Given the description of an element on the screen output the (x, y) to click on. 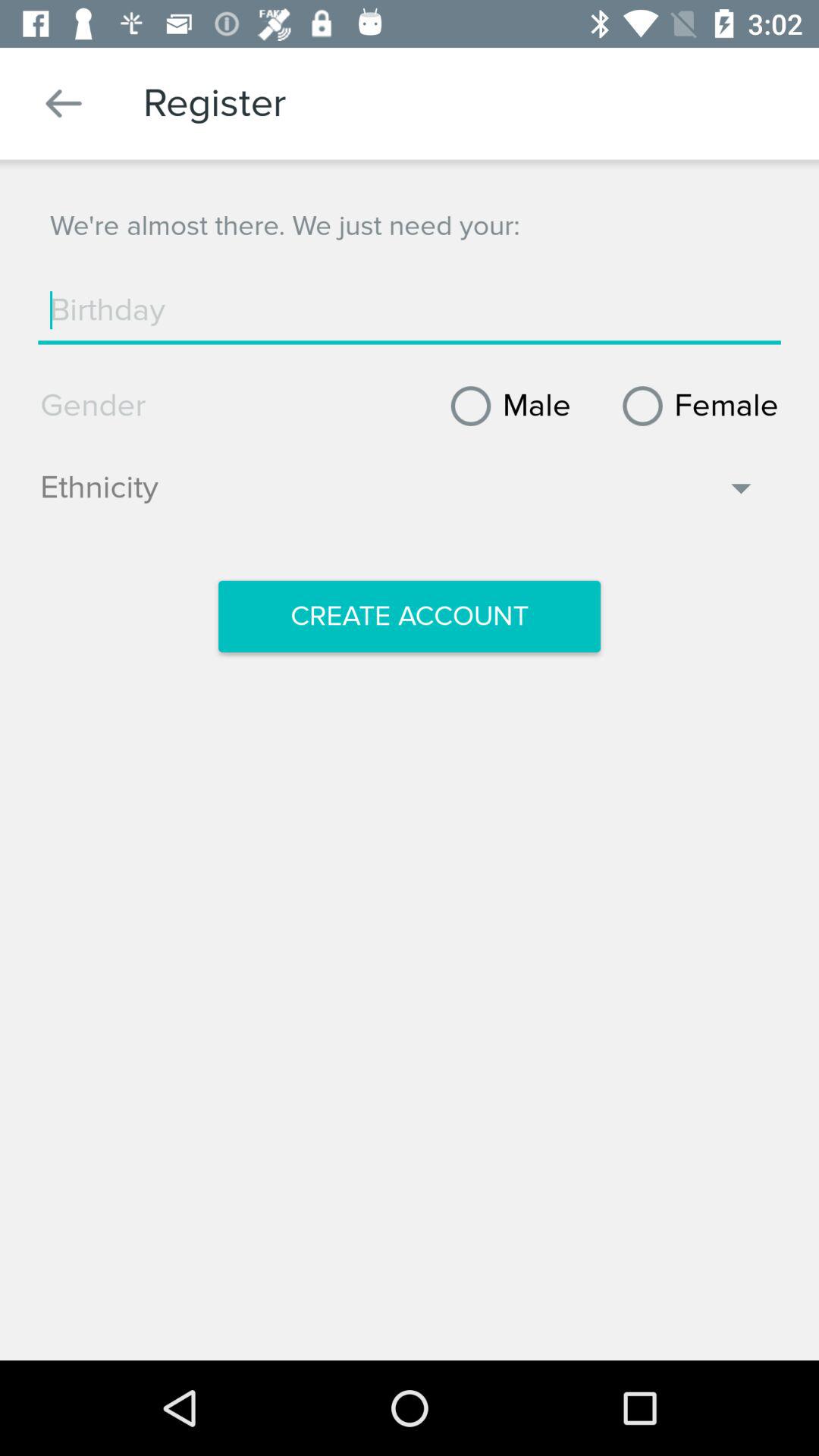
turn on item to the right of the male item (694, 405)
